Given the description of an element on the screen output the (x, y) to click on. 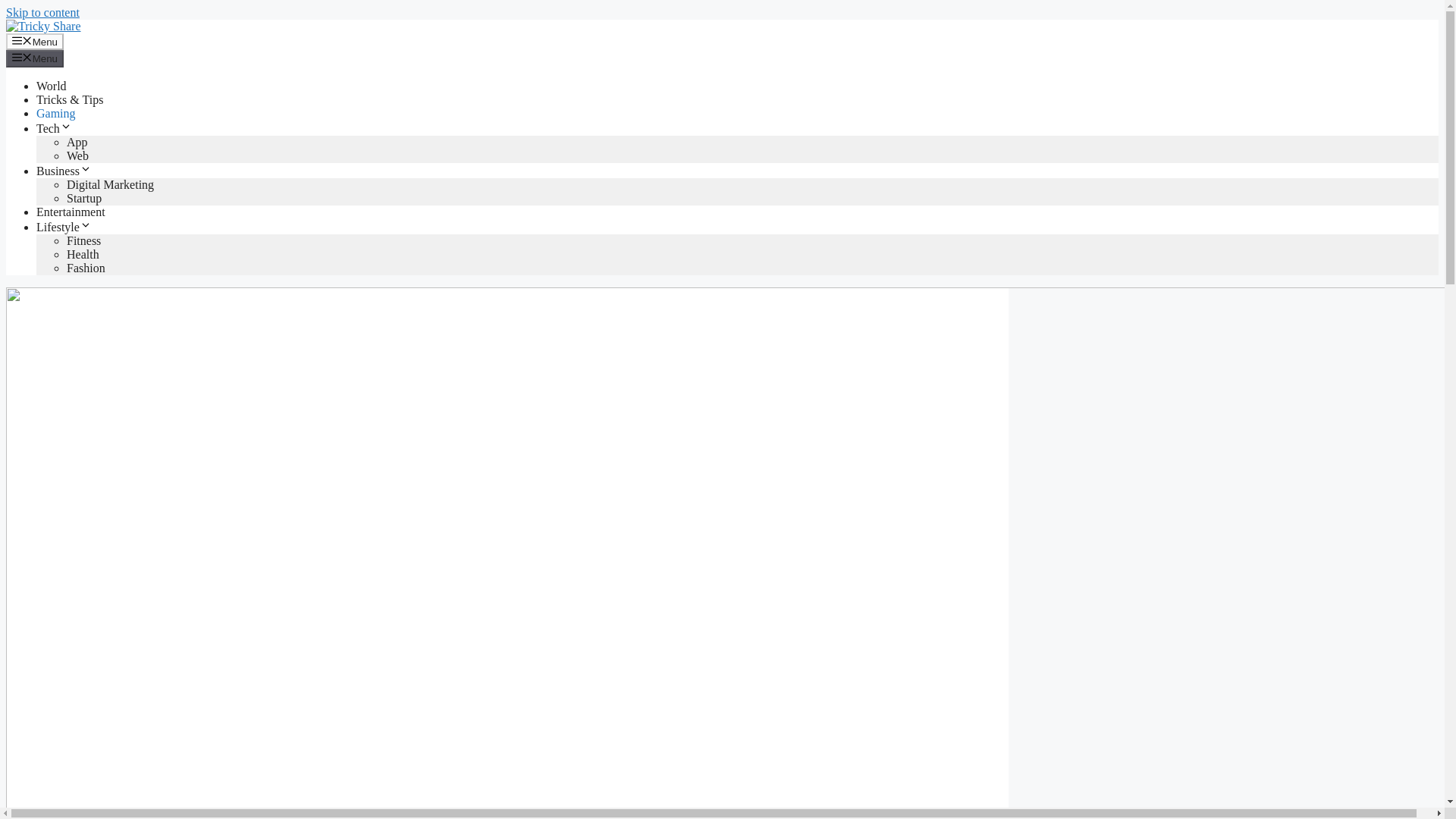
World (51, 85)
Business (63, 170)
Fashion (85, 267)
Web (77, 155)
Startup (83, 197)
Skip to content (42, 11)
Menu (34, 41)
Tech (53, 128)
Menu (34, 57)
Skip to content (42, 11)
Health (82, 254)
App (76, 141)
Lifestyle (63, 226)
Entertainment (70, 211)
Digital Marketing (110, 184)
